Given the description of an element on the screen output the (x, y) to click on. 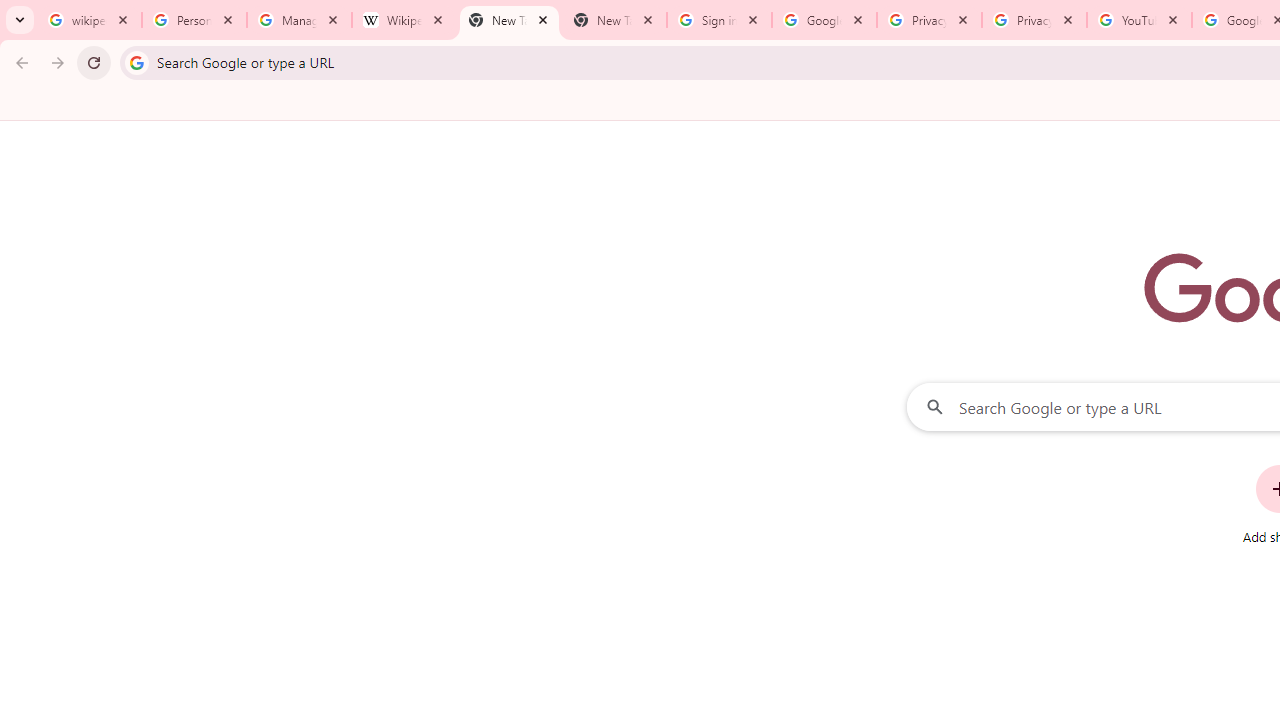
Sign in - Google Accounts (718, 20)
New Tab (509, 20)
Google Drive: Sign-in (823, 20)
Personalization & Google Search results - Google Search Help (194, 20)
Manage your Location History - Google Search Help (299, 20)
